Given the description of an element on the screen output the (x, y) to click on. 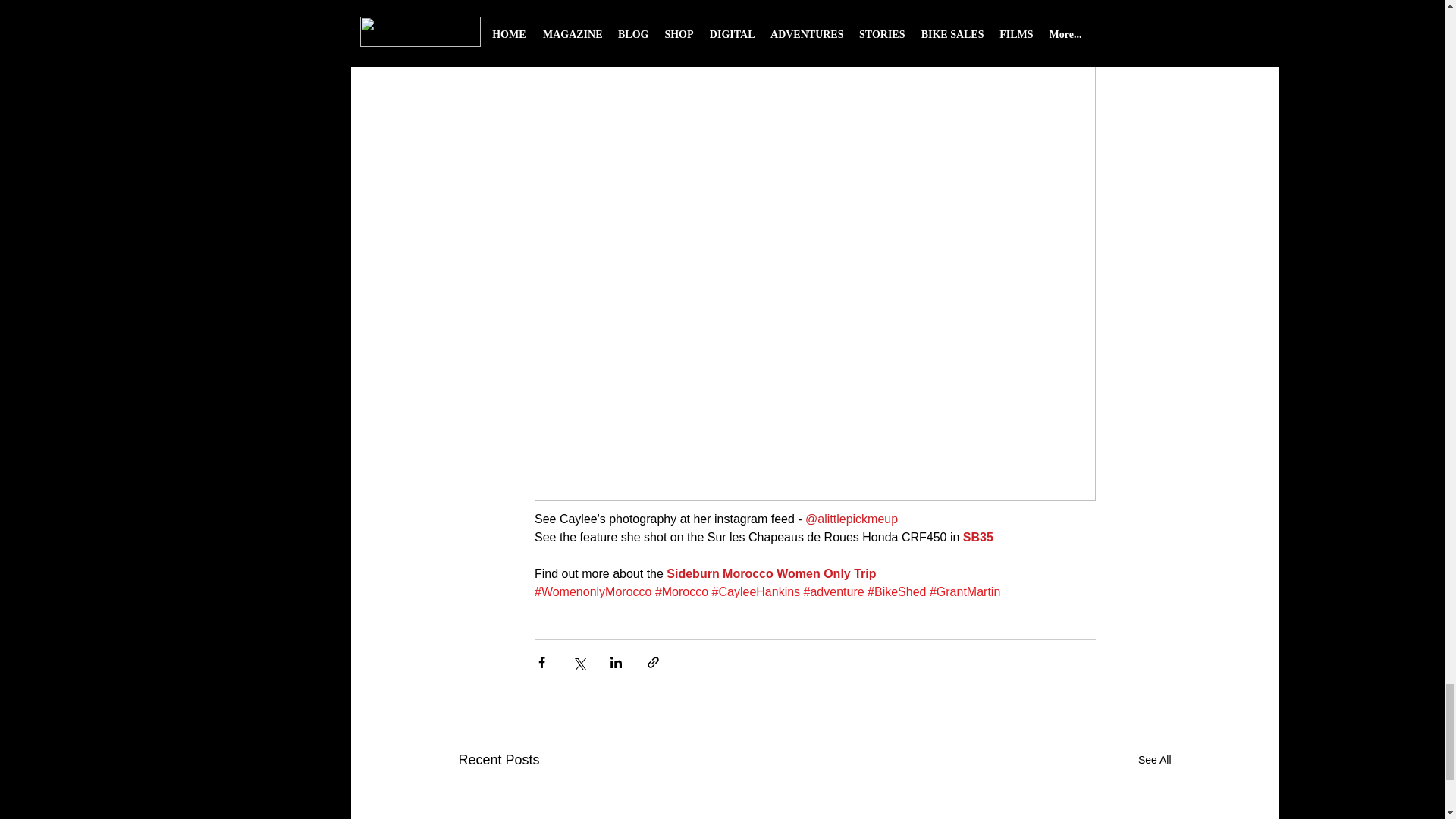
See All (1155, 760)
Sideburn Morocco Women Only Trip (771, 573)
SB35 (977, 536)
